Given the description of an element on the screen output the (x, y) to click on. 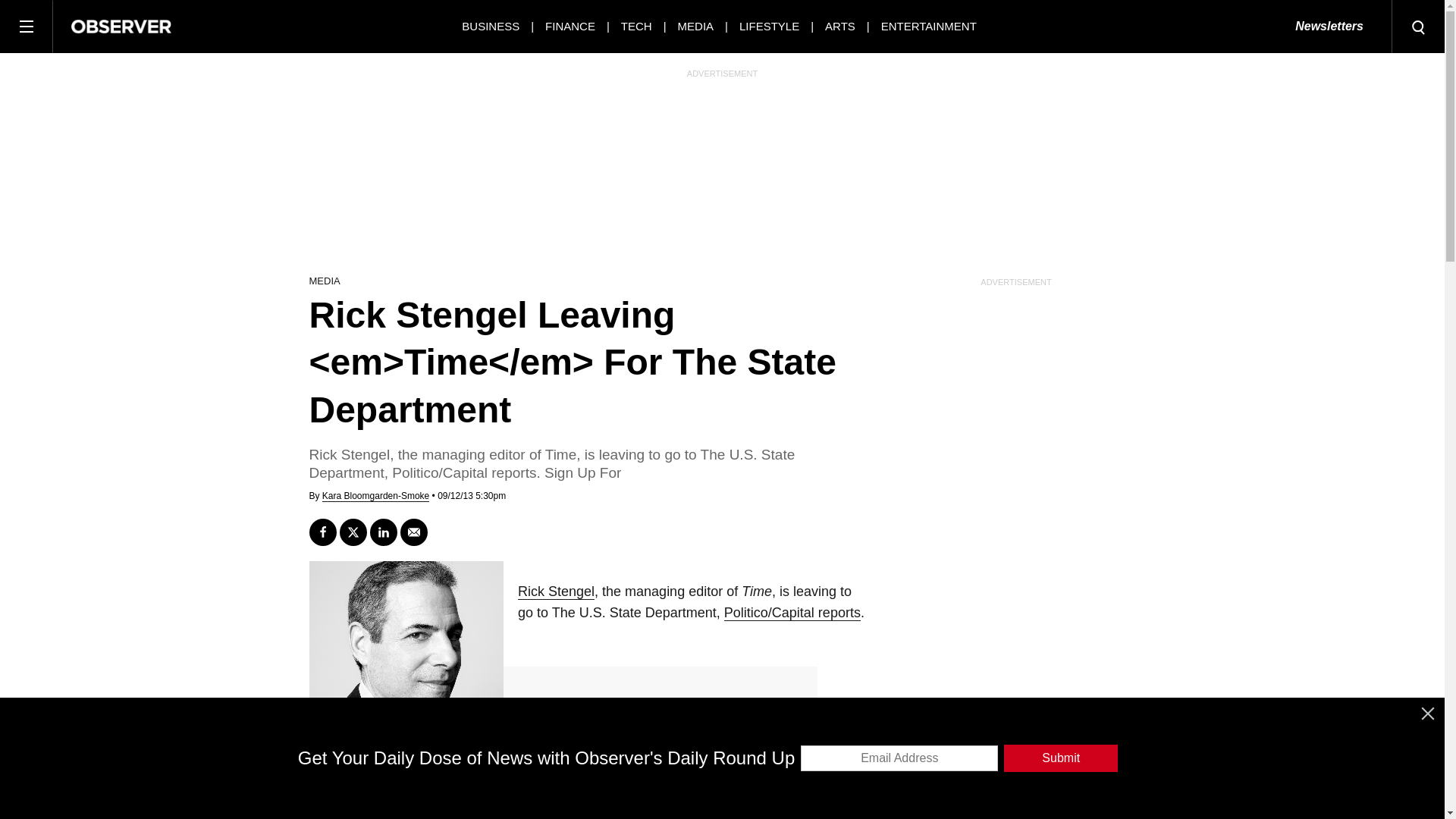
Observer (121, 26)
Tweet (352, 532)
BUSINESS (490, 25)
TECH (636, 25)
ENTERTAINMENT (928, 25)
LIFESTYLE (769, 25)
Share on Facebook (322, 532)
View All Posts by Kara Bloomgarden-Smoke (375, 496)
MEDIA (696, 25)
Send email (414, 532)
